Given the description of an element on the screen output the (x, y) to click on. 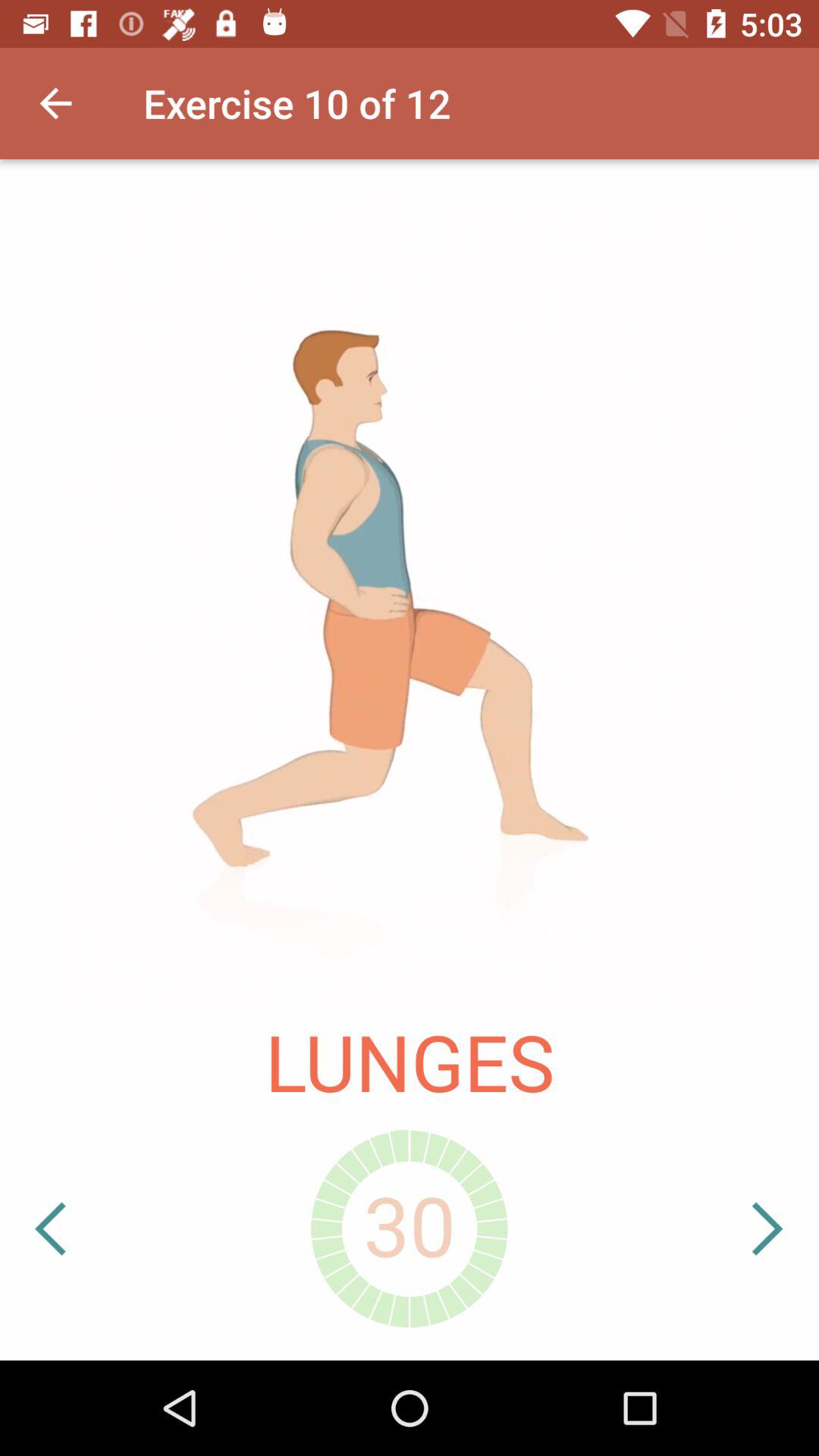
turn on icon at the bottom left corner (97, 1228)
